Given the description of an element on the screen output the (x, y) to click on. 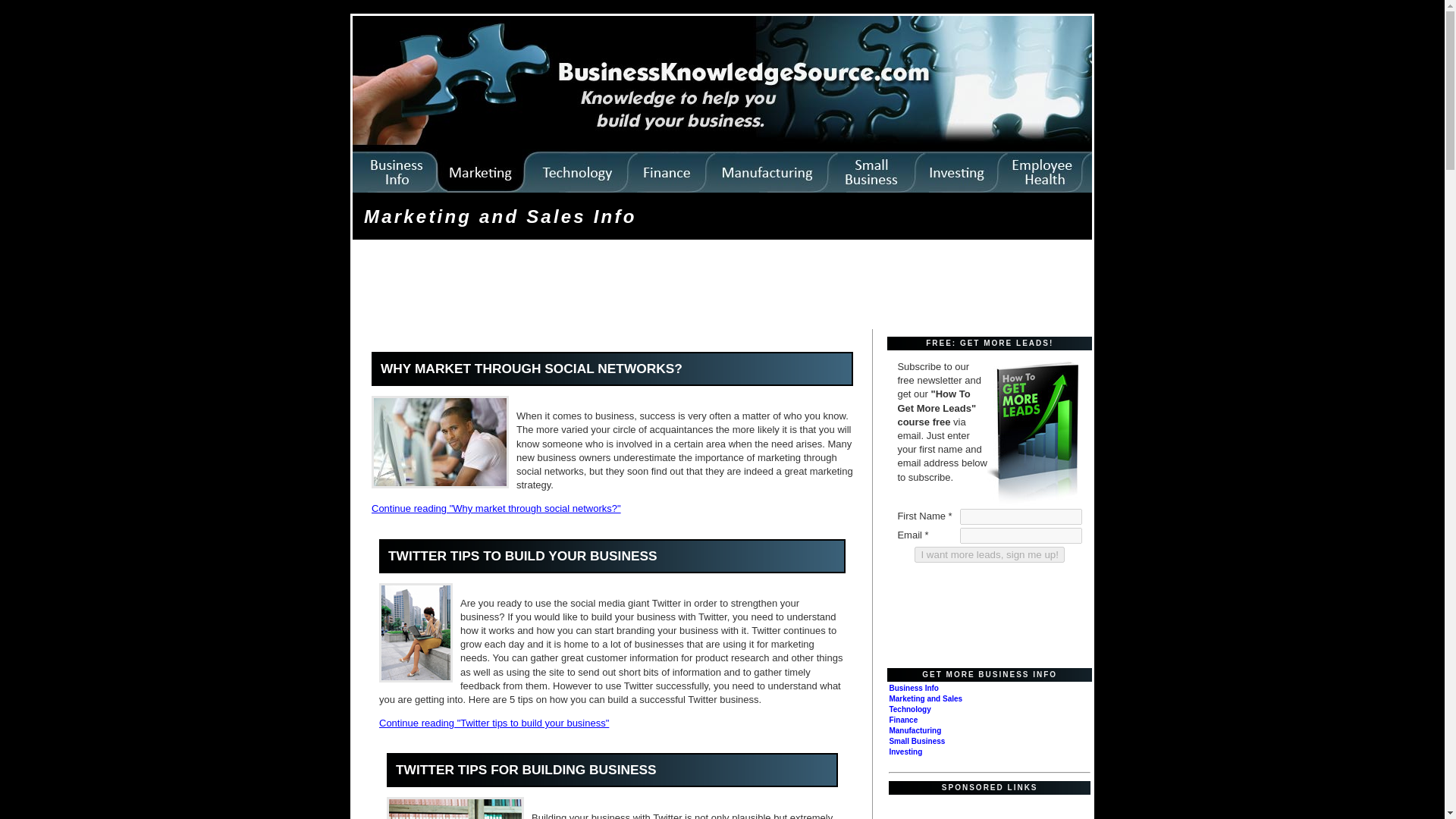
Advertisement (983, 806)
Advertisement (631, 289)
WHY MARKET THROUGH SOCIAL NETWORKS? (531, 368)
Continue reading "Twitter tips to build your business" (493, 722)
I want more leads, sign me up! (989, 554)
Continue reading "Why market through social networks?" (496, 508)
TWITTER TIPS TO BUILD YOUR BUSINESS (523, 554)
TWITTER TIPS FOR BUILDING BUSINESS (526, 769)
Marketing and Sales Info (500, 216)
Advertisement (962, 612)
